Given the description of an element on the screen output the (x, y) to click on. 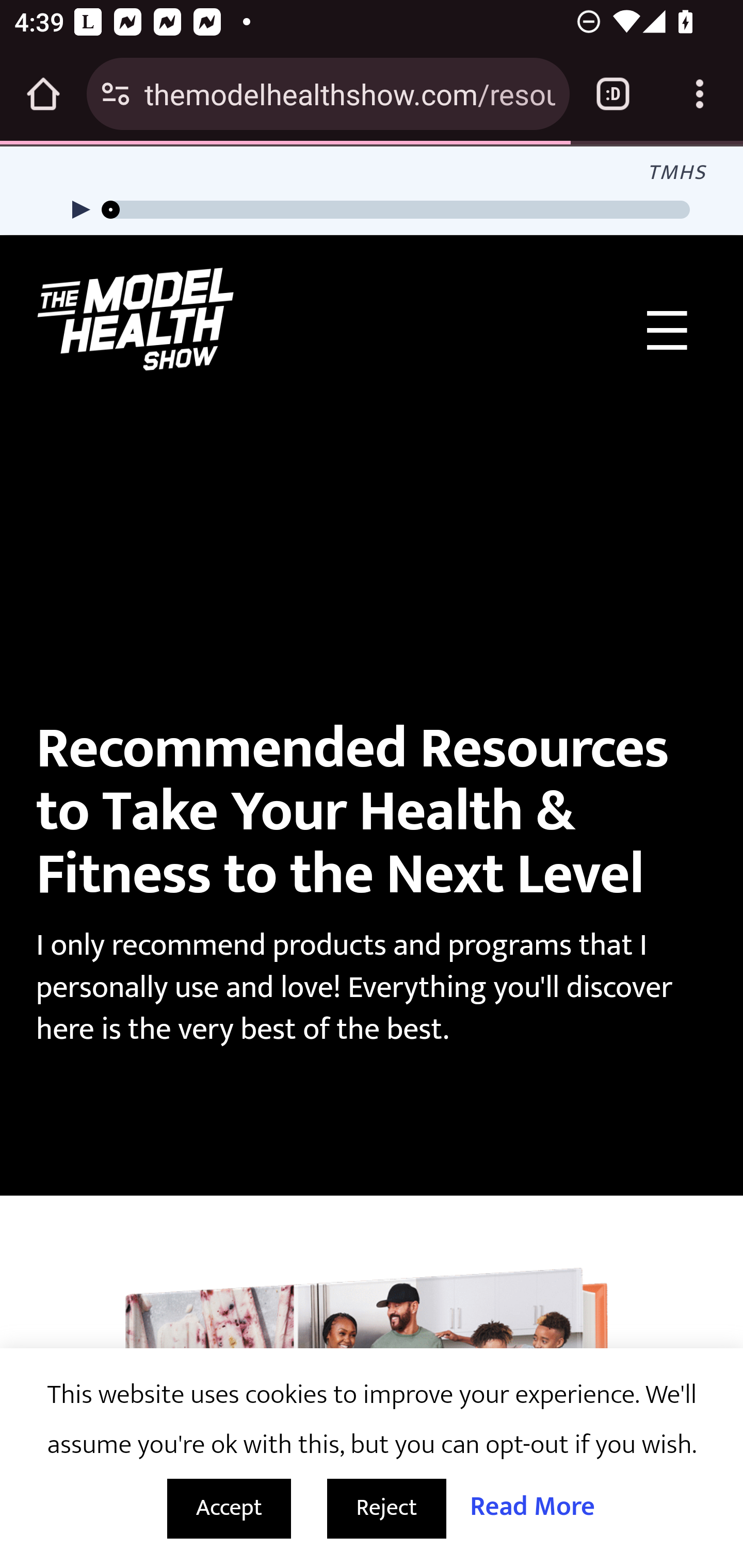
Open the home page (43, 93)
Connection is secure (115, 93)
Switch or close tabs (612, 93)
Customize and control Google Chrome (699, 93)
themodelhealthshow.com/resources/ (349, 92)
Accept (229, 1508)
Reject (387, 1508)
Read More (532, 1506)
